Given the description of an element on the screen output the (x, y) to click on. 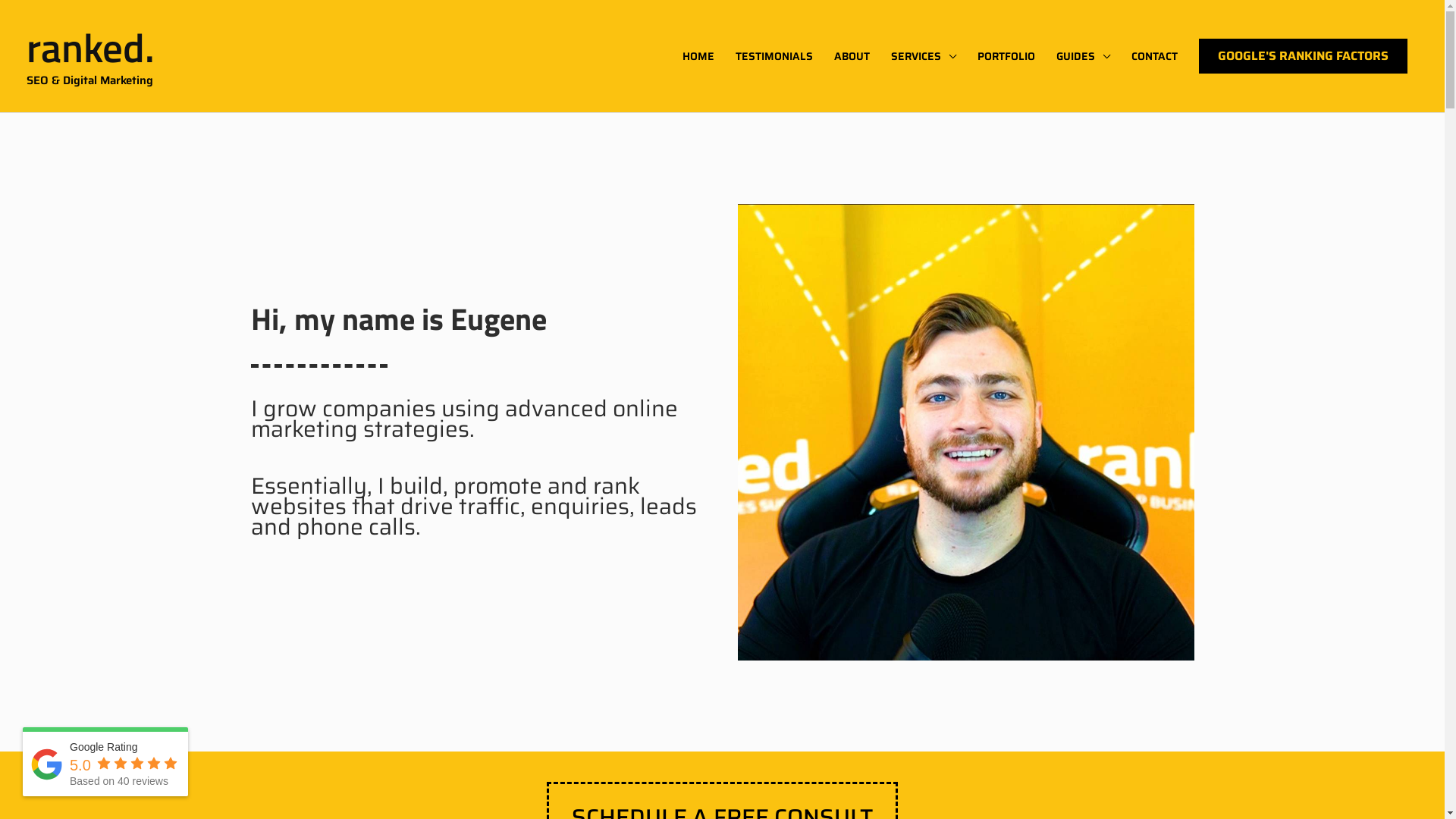
ranked. Element type: text (90, 47)
ABOUT Element type: text (851, 55)
SERVICES Element type: text (923, 55)
GOOGLE'S RANKING FACTORS Element type: text (1302, 55)
GUIDES Element type: text (1082, 55)
HOME Element type: text (697, 55)
PORTFOLIO Element type: text (1005, 55)
Eugene Ranked SEO Consultant Element type: hover (965, 431)
CONTACT Element type: text (1154, 55)
TESTIMONIALS Element type: text (773, 55)
